Given the description of an element on the screen output the (x, y) to click on. 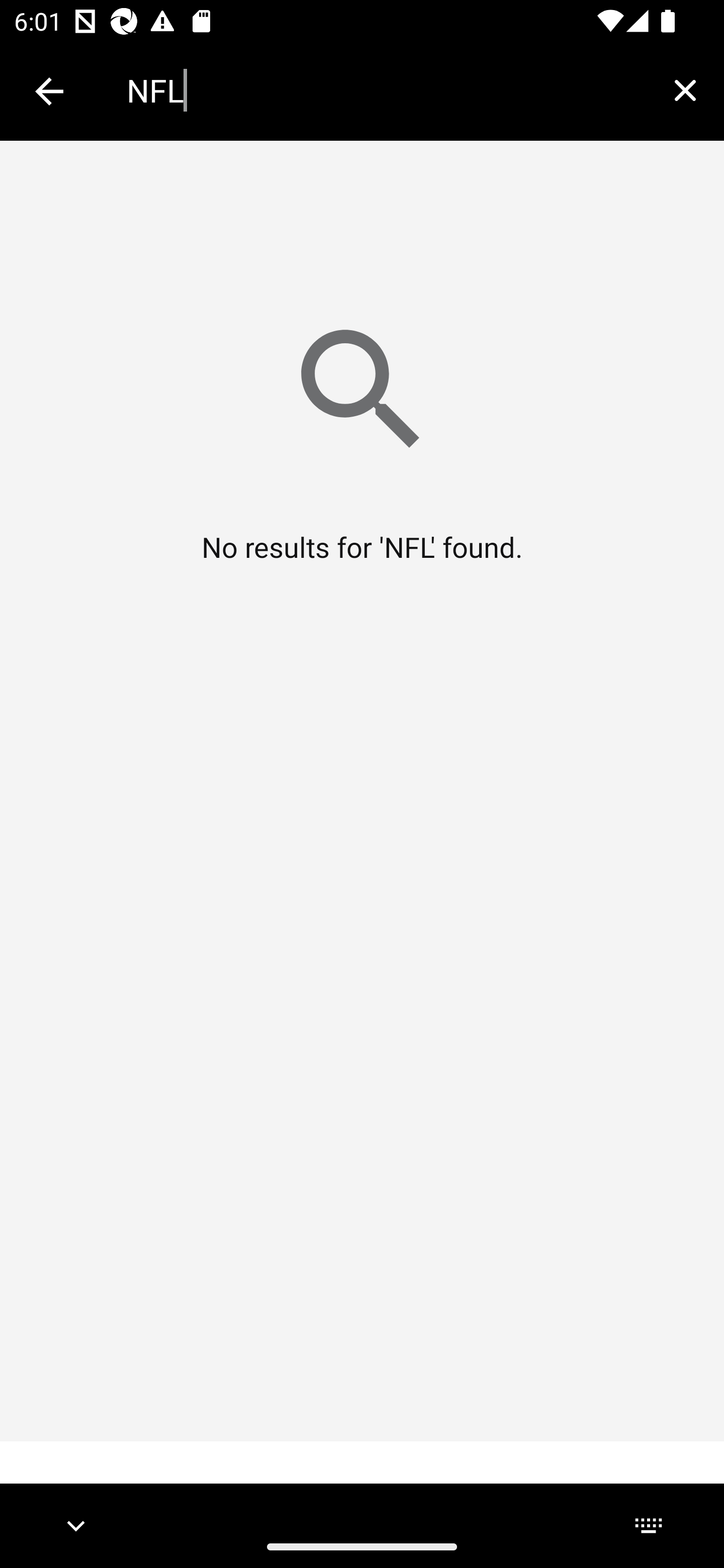
Collapse (49, 91)
Clear query (685, 89)
NFL (386, 90)
